Given the description of an element on the screen output the (x, y) to click on. 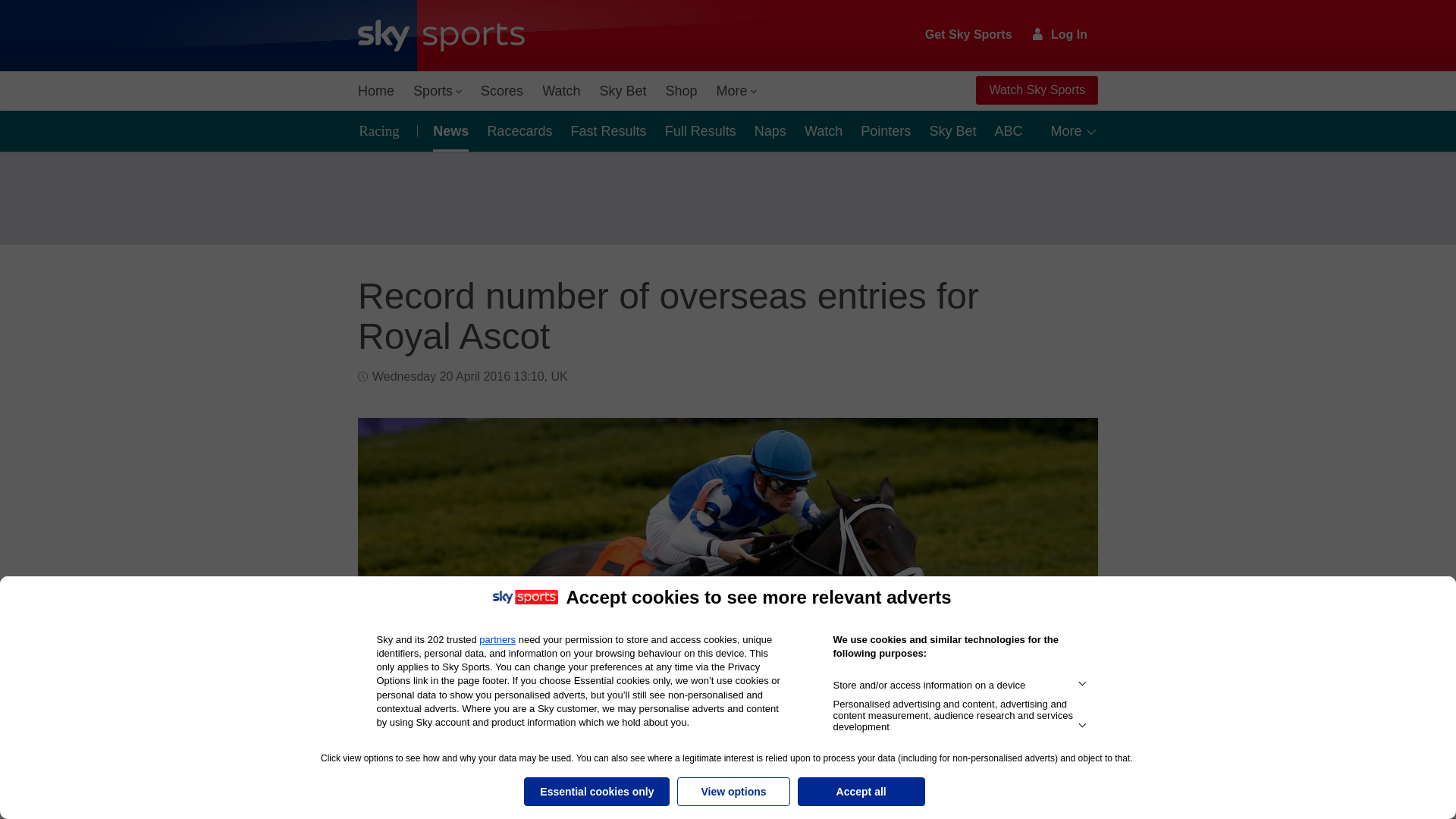
Get Sky Sports (968, 34)
Log In (1060, 33)
More (736, 91)
Sports (437, 91)
Home (375, 91)
Shop (681, 91)
Scores (502, 91)
Racing (383, 130)
Sky Bet (622, 91)
Watch Sky Sports (1036, 90)
